Given the description of an element on the screen output the (x, y) to click on. 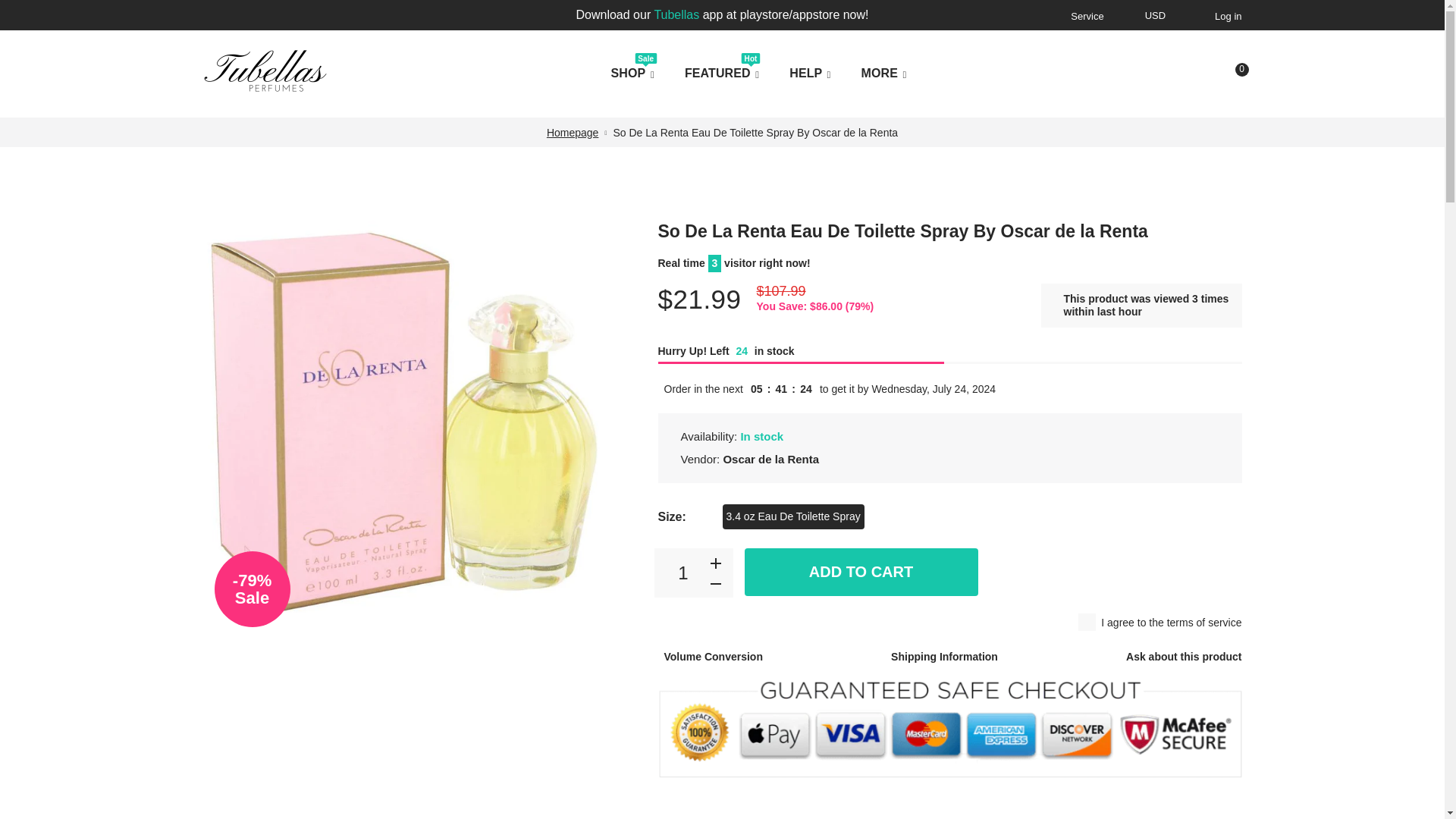
Log in (1225, 16)
USD (1156, 16)
Service (1084, 16)
Homepage (572, 132)
Log in (1225, 16)
